Given the description of an element on the screen output the (x, y) to click on. 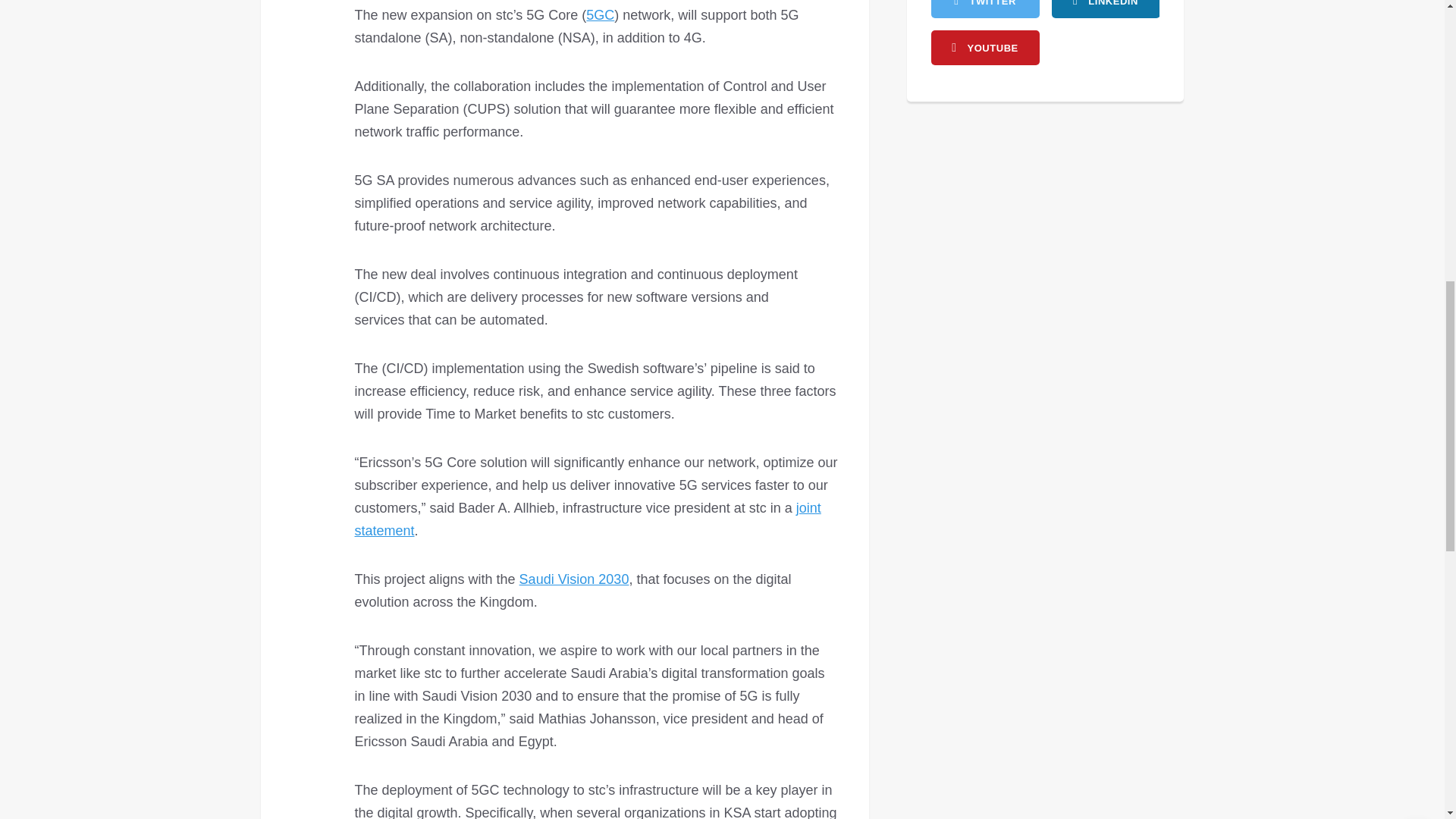
youtube (985, 47)
twitter (985, 9)
rss (1104, 9)
